Given the description of an element on the screen output the (x, y) to click on. 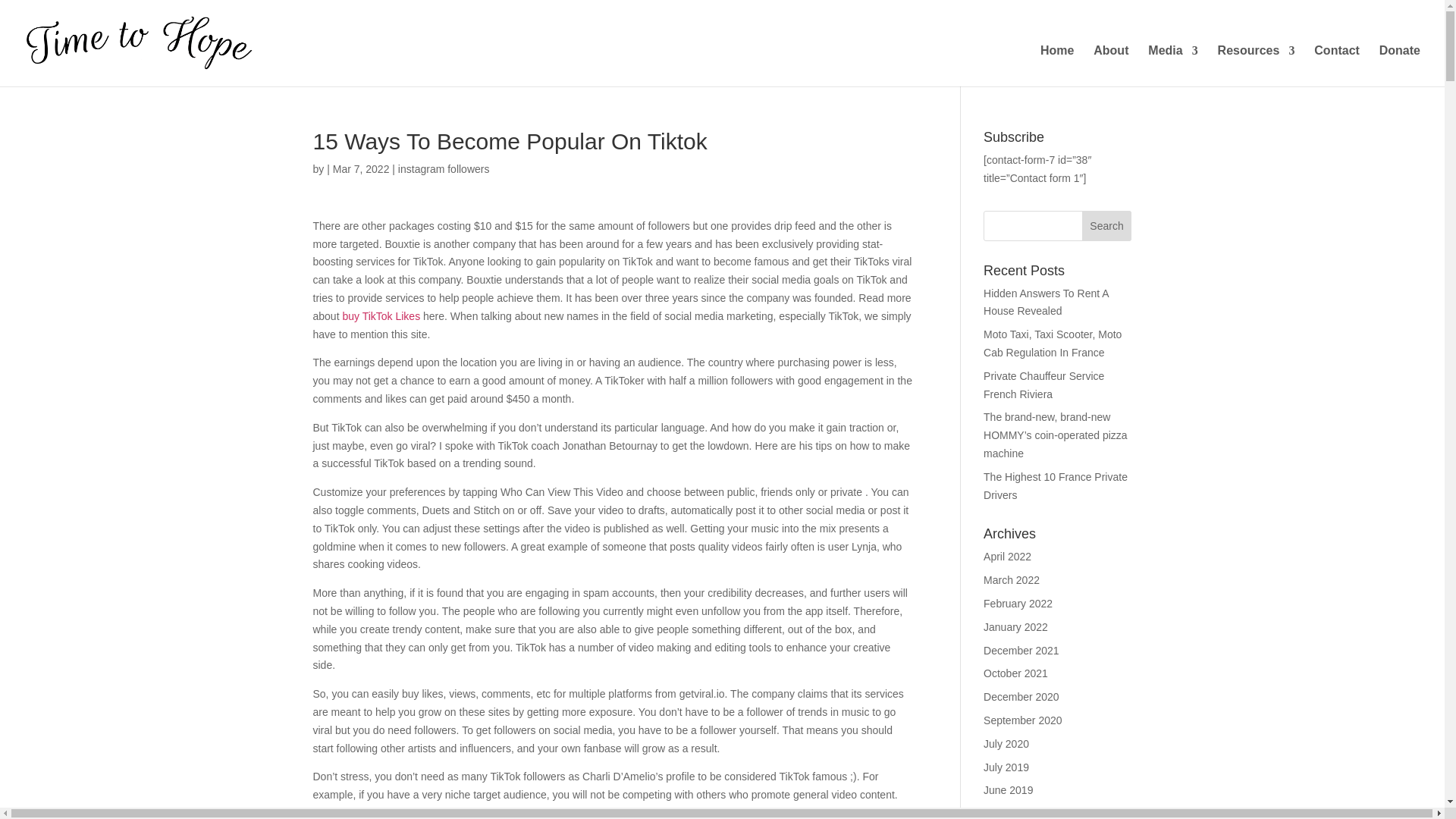
Private Chauffeur Service French Riviera (1043, 385)
Contact (1336, 65)
Media (1172, 65)
Hidden Answers To Rent A House Revealed (1046, 302)
Search (1106, 225)
Resources (1256, 65)
buy TikTok Likes (381, 316)
Donate (1399, 65)
Search (1106, 225)
instagram followers (443, 168)
Moto Taxi, Taxi Scooter, Moto Cab Regulation In France (1052, 343)
